Given the description of an element on the screen output the (x, y) to click on. 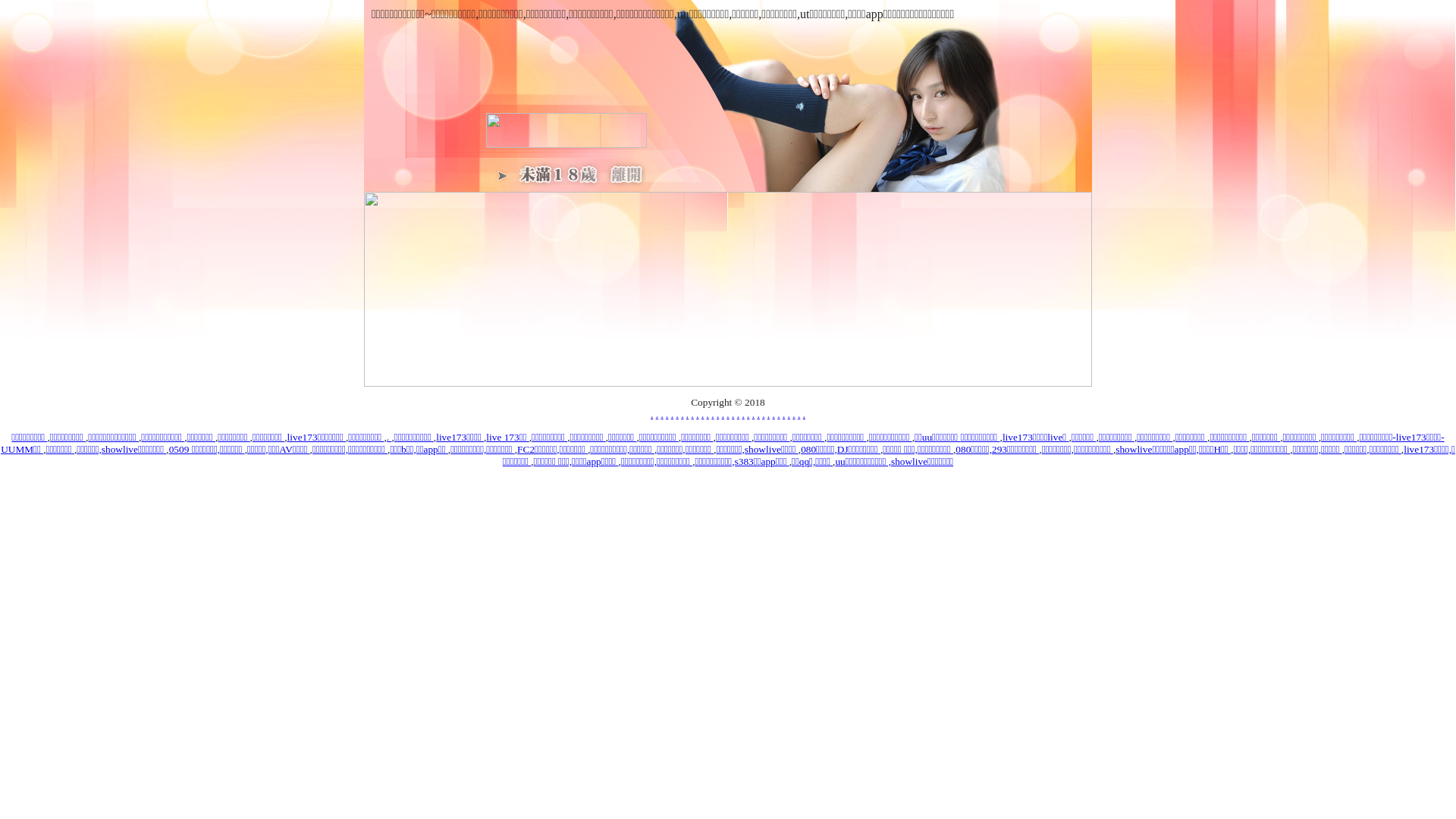
. Element type: text (666, 414)
. Element type: text (742, 414)
. Element type: text (768, 414)
. Element type: text (697, 414)
. Element type: text (656, 414)
. Element type: text (773, 414)
. Element type: text (389, 436)
. Element type: text (788, 414)
. Element type: text (793, 414)
. Element type: text (757, 414)
. Element type: text (798, 414)
. Element type: text (804, 414)
. Element type: text (753, 414)
. Element type: text (702, 414)
. Element type: text (687, 414)
. Element type: text (722, 414)
. Element type: text (651, 414)
. Element type: text (692, 414)
. Element type: text (778, 414)
. Element type: text (738, 414)
. Element type: text (783, 414)
. Element type: text (763, 414)
. Element type: text (727, 414)
. Element type: text (707, 414)
. Element type: text (712, 414)
. Element type: text (747, 414)
. Element type: text (672, 414)
. Element type: text (717, 414)
. Element type: text (661, 414)
. Element type: text (681, 414)
. Element type: text (676, 414)
. Element type: text (732, 414)
